Given the description of an element on the screen output the (x, y) to click on. 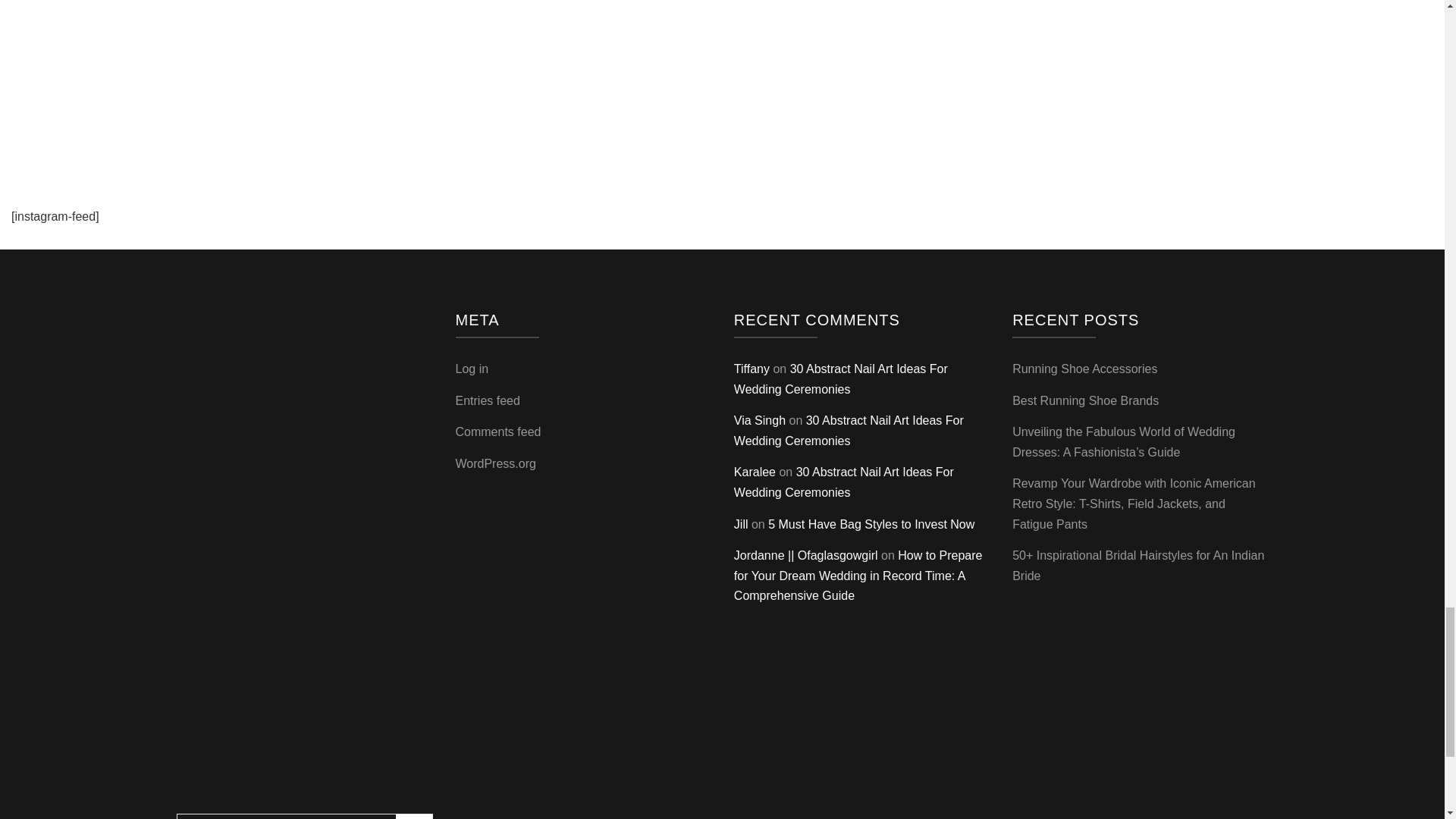
Search (414, 816)
Advertisement (721, 69)
Search (414, 816)
